Given the description of an element on the screen output the (x, y) to click on. 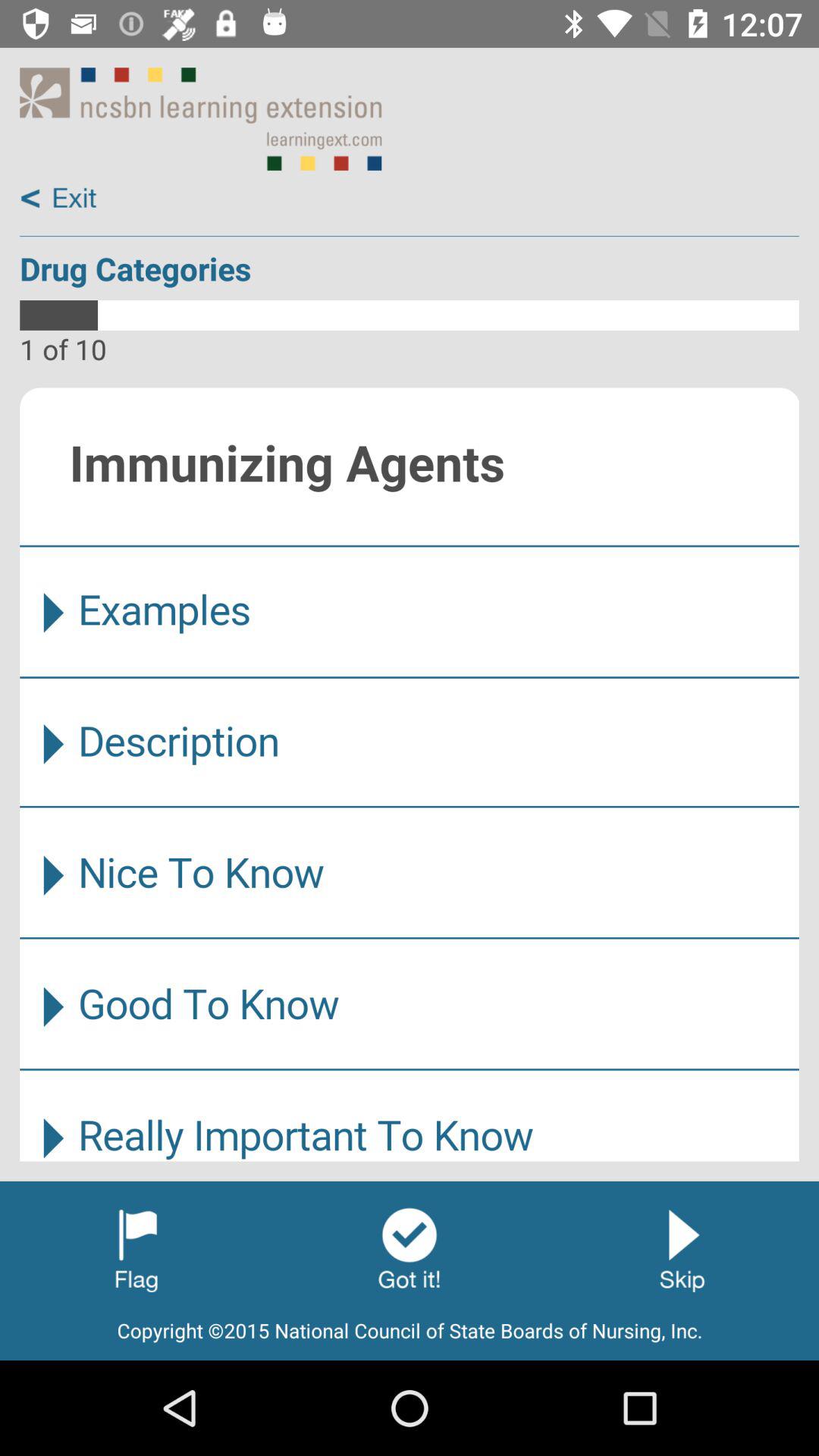
flag category (136, 1248)
